Given the description of an element on the screen output the (x, y) to click on. 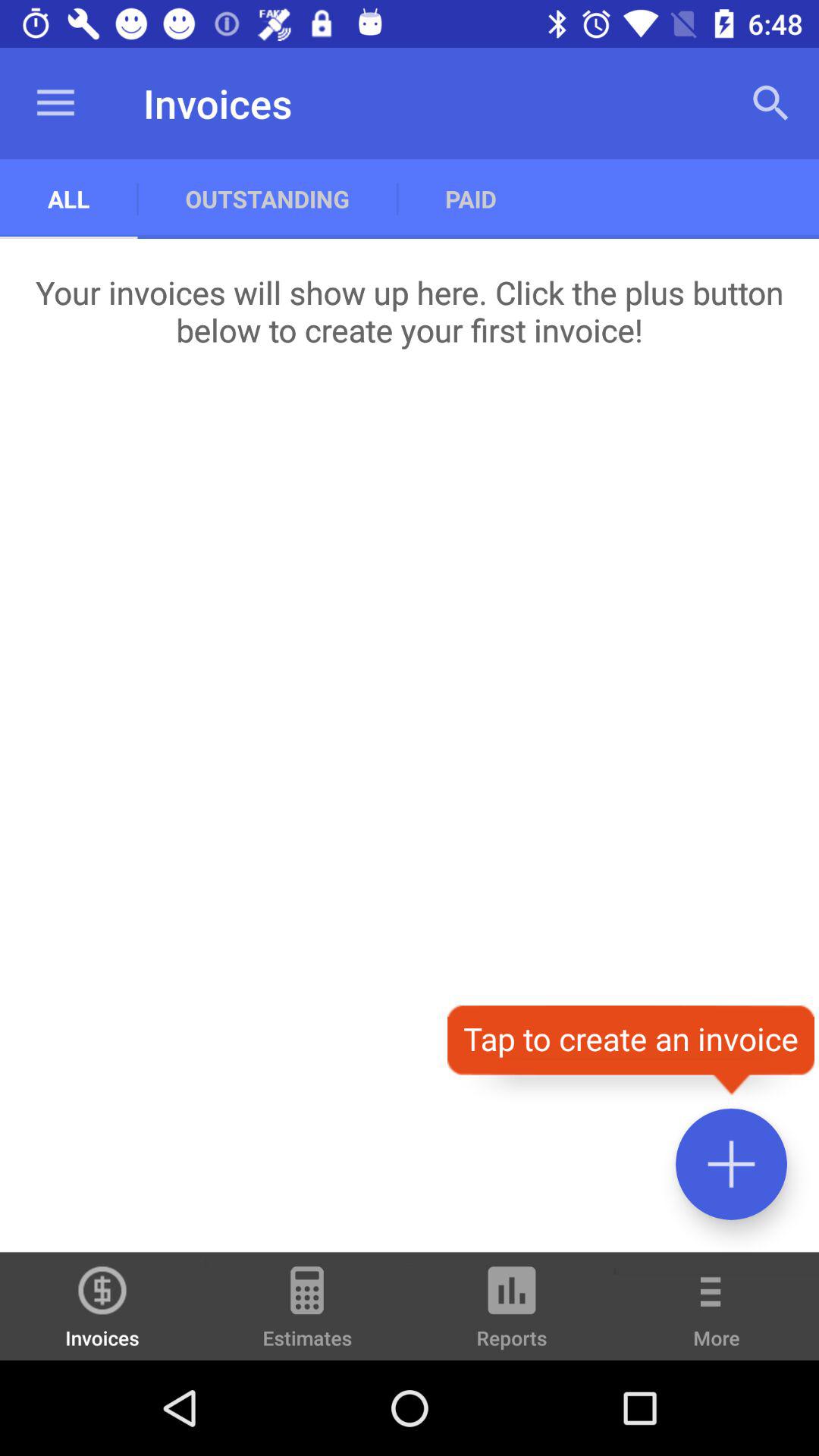
create invoice (731, 1163)
